Given the description of an element on the screen output the (x, y) to click on. 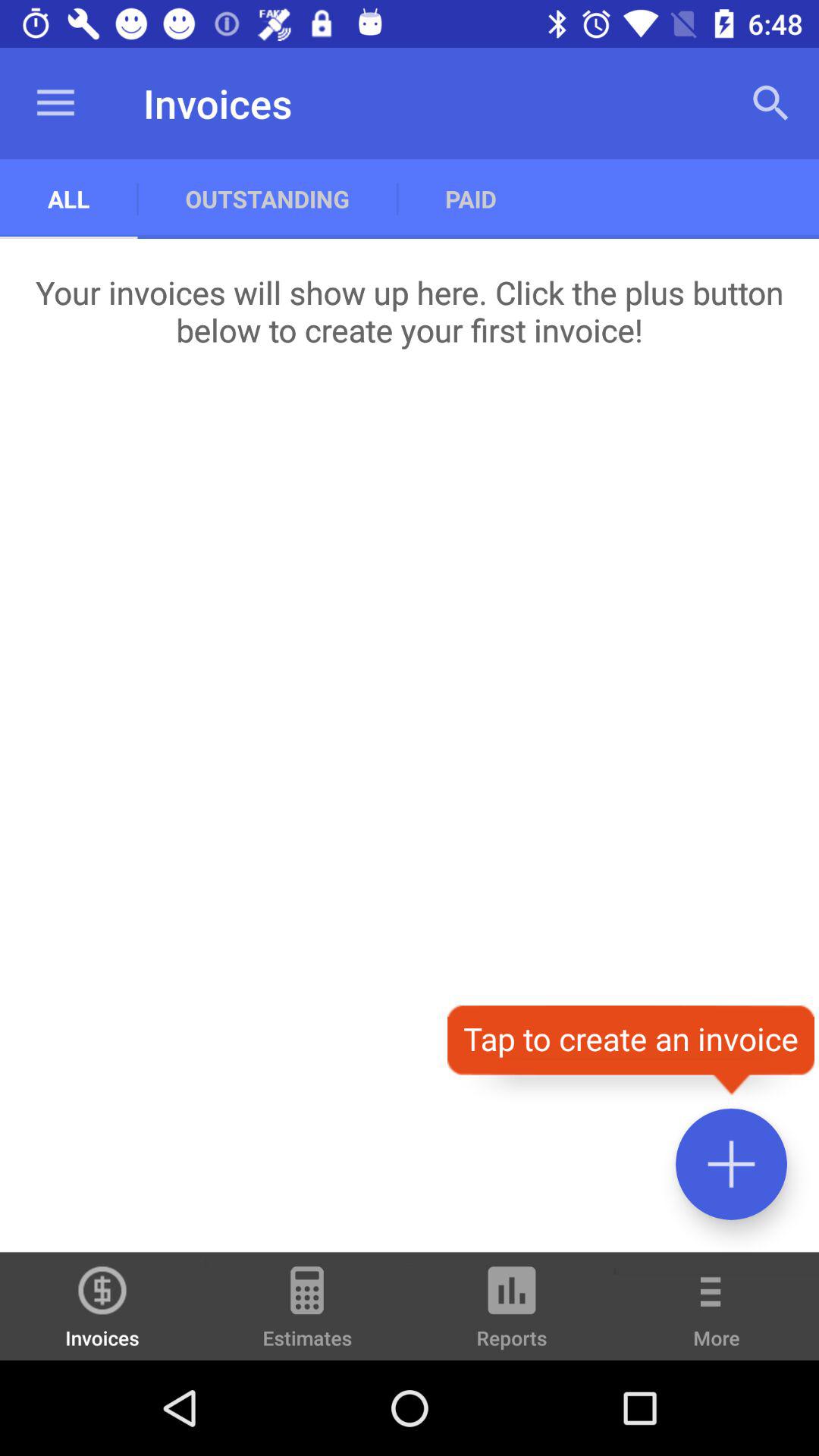
create invoice (731, 1163)
